Given the description of an element on the screen output the (x, y) to click on. 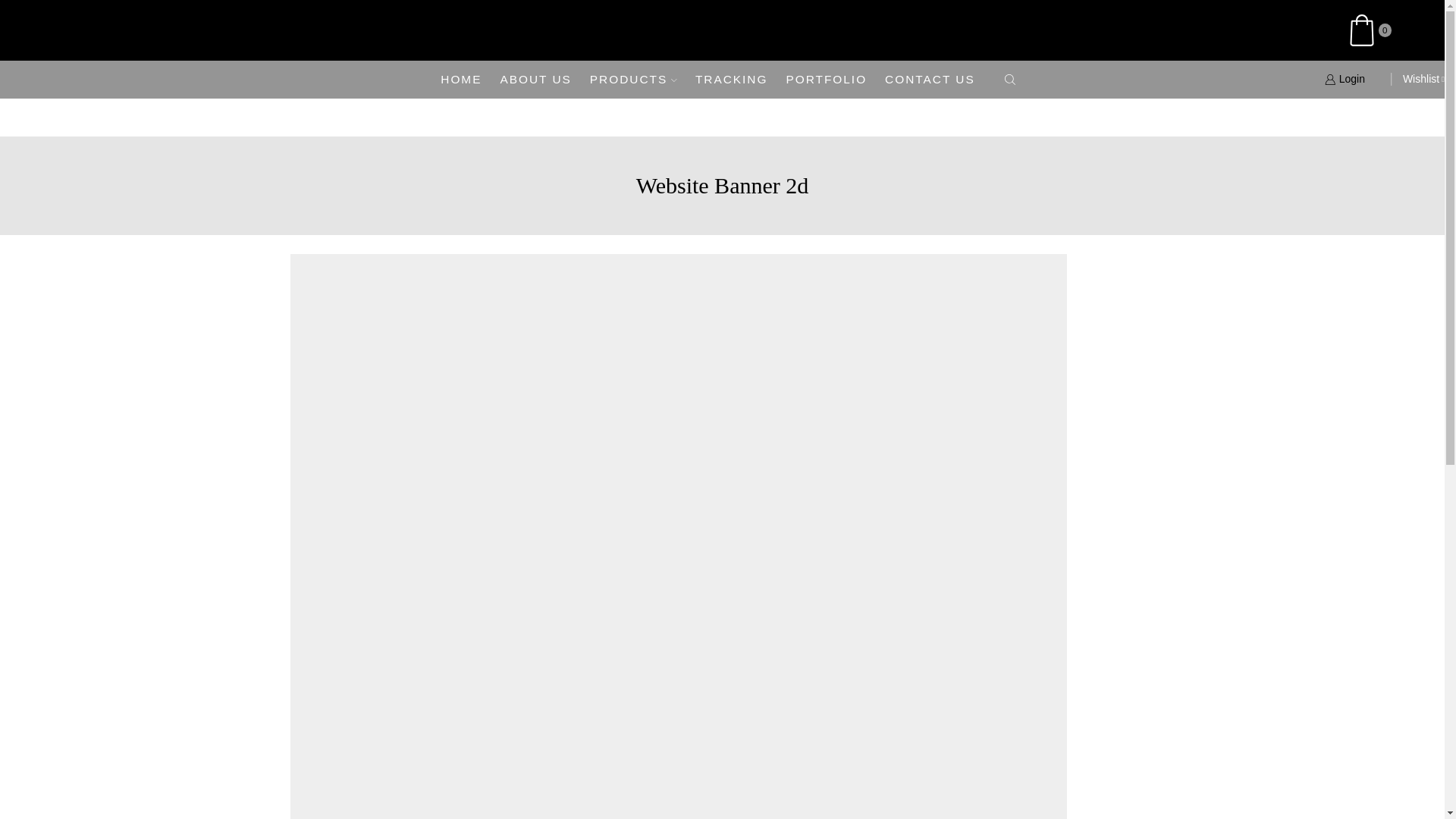
Log in (1261, 333)
0 (1375, 29)
ABOUT US (534, 79)
PRODUCTS (633, 79)
Login (1352, 79)
TRACKING (731, 79)
HOME (461, 79)
CONTACT US (930, 79)
PORTFOLIO (826, 79)
